Given the description of an element on the screen output the (x, y) to click on. 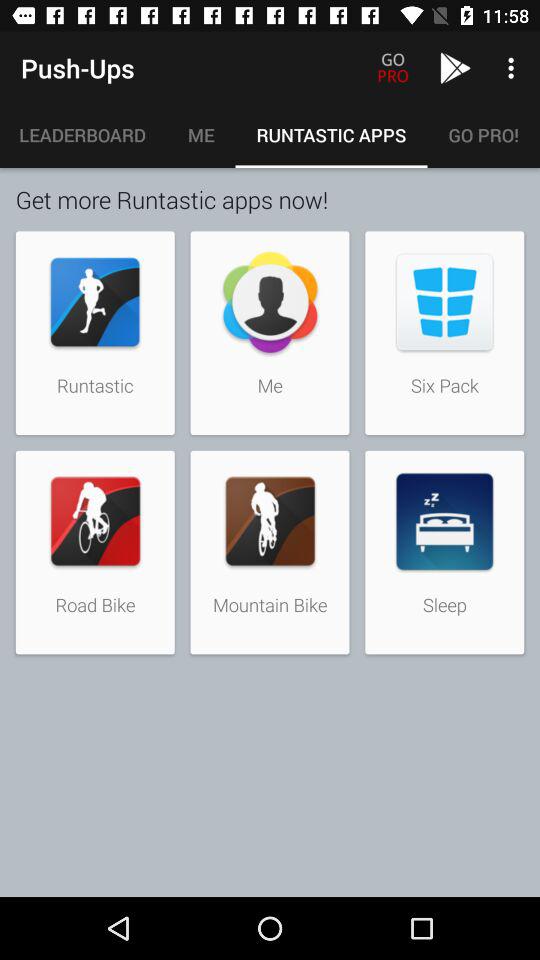
tap the item above go pro! icon (513, 67)
